Given the description of an element on the screen output the (x, y) to click on. 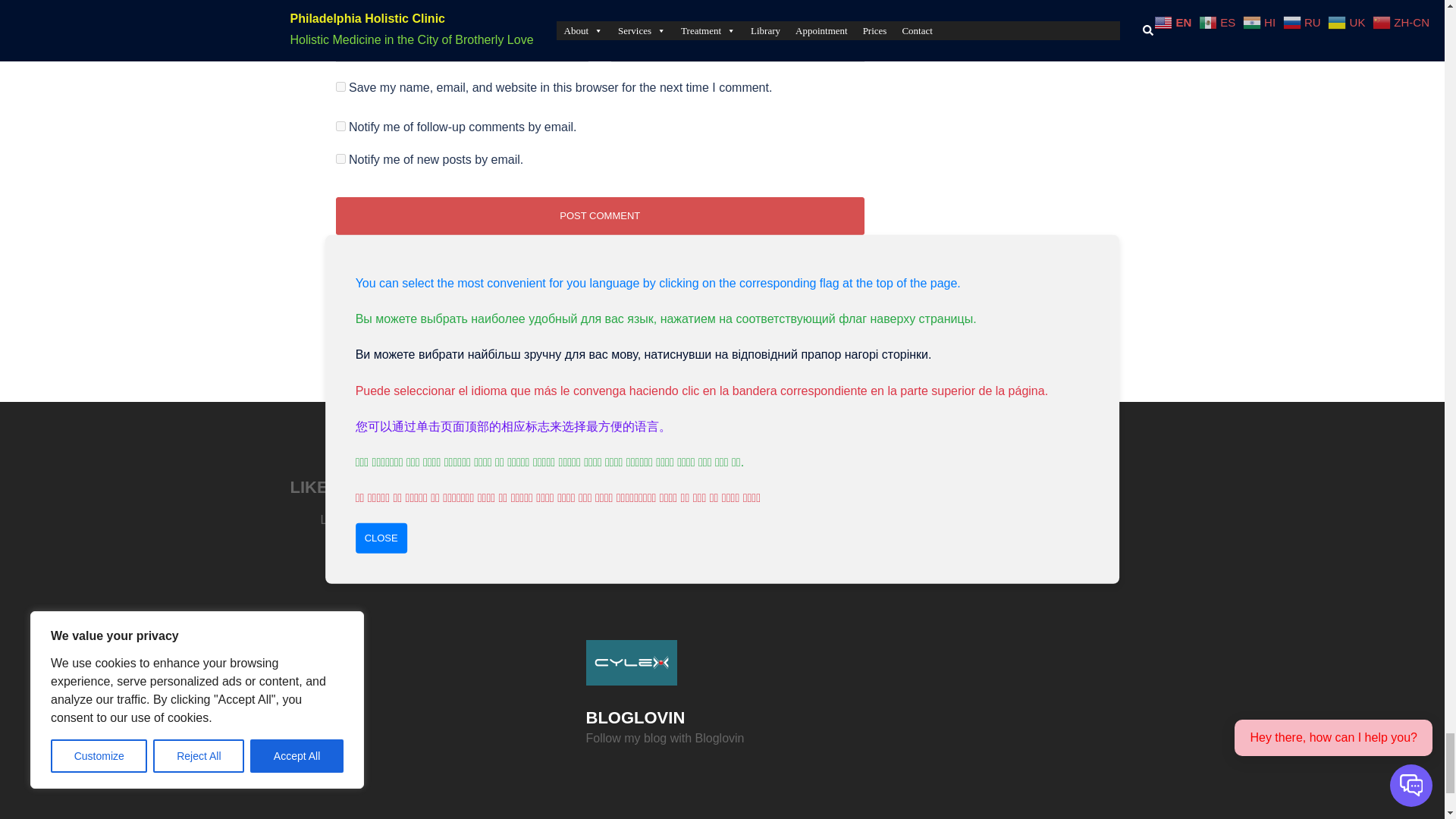
subscribe (339, 158)
yes (339, 86)
Philadelphia Holistic Clinic (631, 662)
Post Comment (599, 216)
subscribe (339, 126)
